Given the description of an element on the screen output the (x, y) to click on. 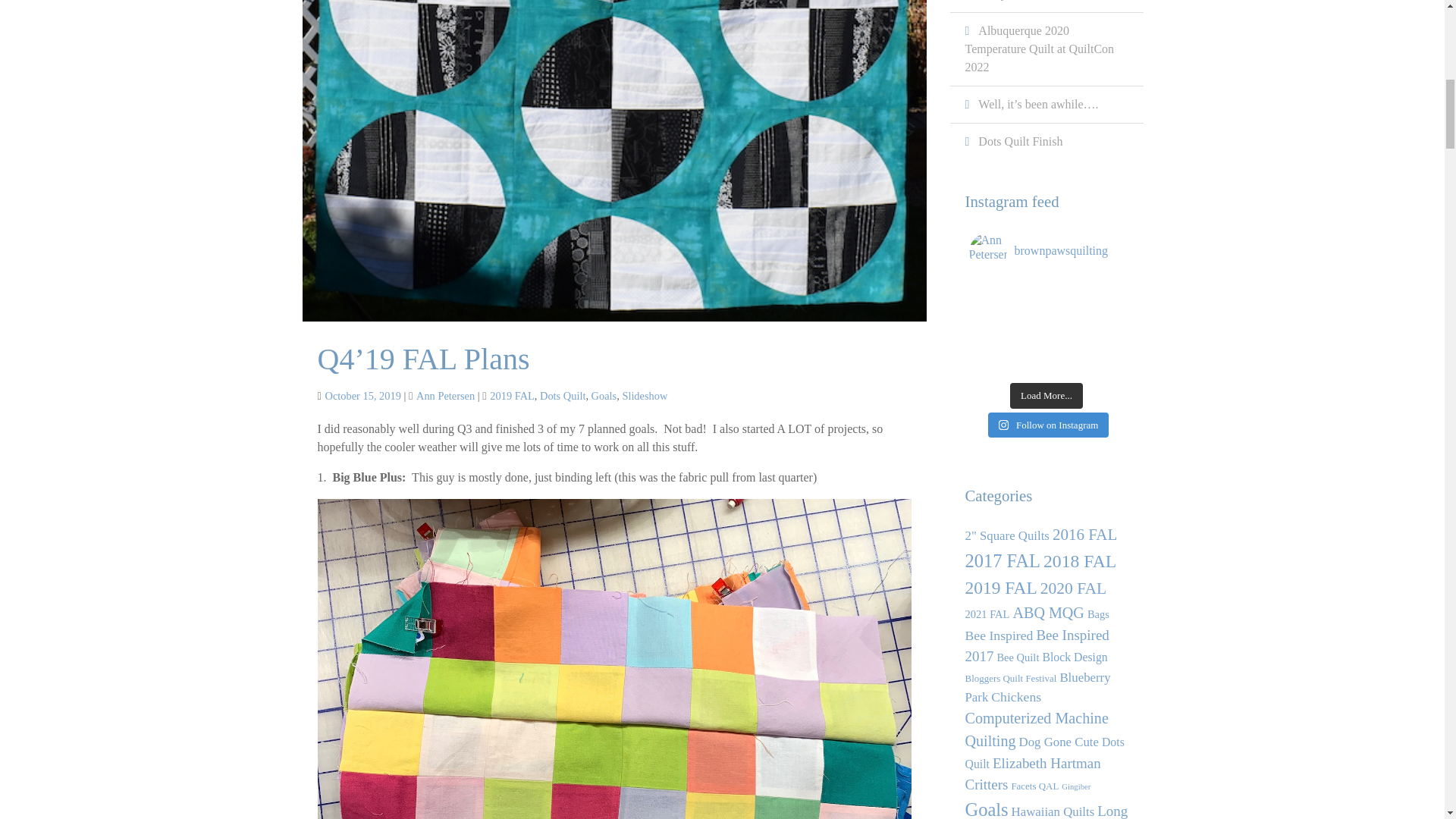
2019 FAL (511, 395)
Goals (604, 395)
October 15, 2019 (362, 395)
Ann Petersen (445, 395)
Dots Quilt (562, 395)
Slideshow (643, 395)
